Given the description of an element on the screen output the (x, y) to click on. 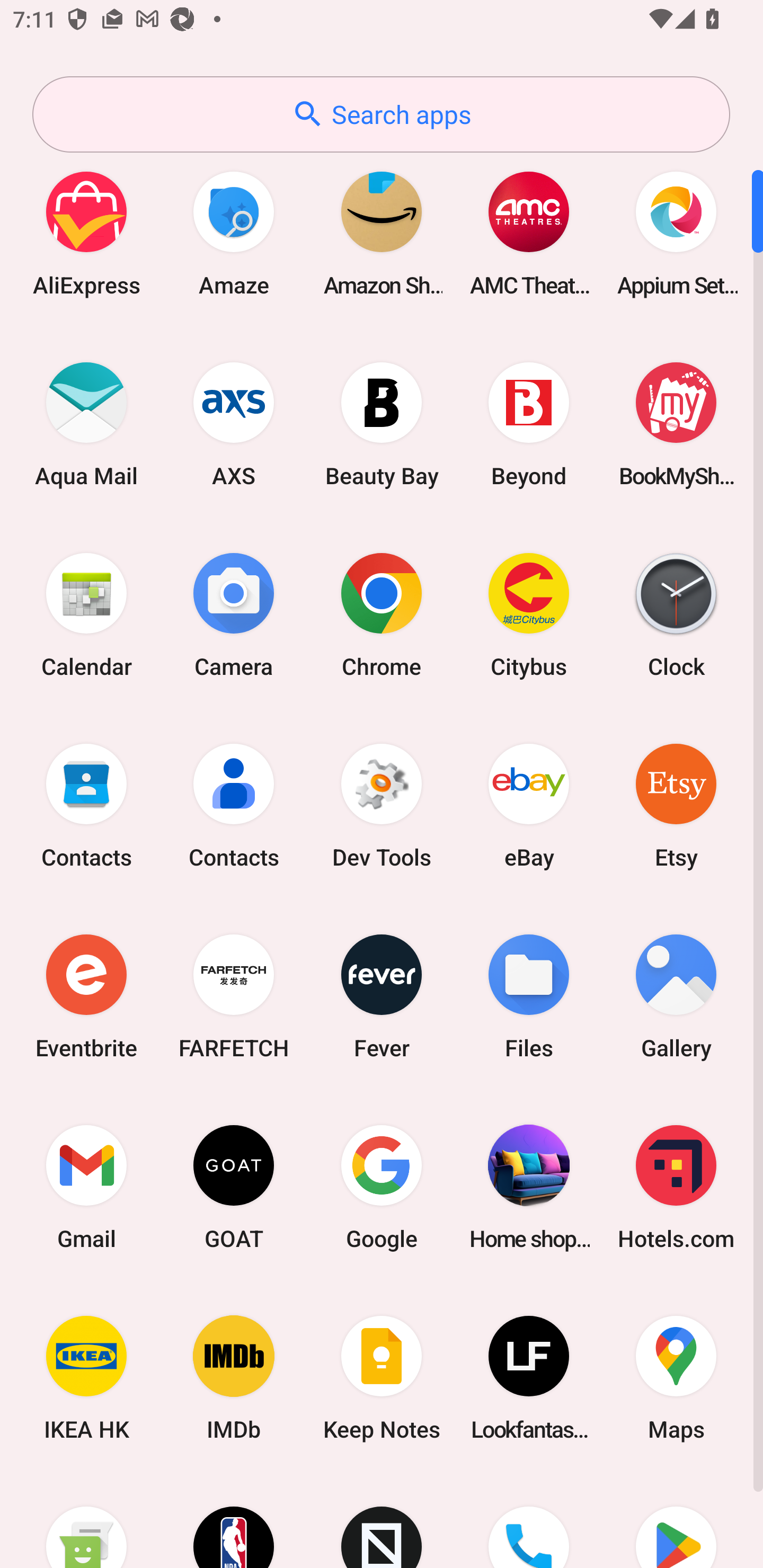
  Search apps (381, 114)
AliExpress (86, 233)
Amaze (233, 233)
Amazon Shopping (381, 233)
AMC Theatres (528, 233)
Appium Settings (676, 233)
Aqua Mail (86, 424)
AXS (233, 424)
Beauty Bay (381, 424)
Beyond (528, 424)
BookMyShow (676, 424)
Calendar (86, 614)
Camera (233, 614)
Chrome (381, 614)
Citybus (528, 614)
Clock (676, 614)
Contacts (86, 805)
Contacts (233, 805)
Dev Tools (381, 805)
eBay (528, 805)
Etsy (676, 805)
Eventbrite (86, 996)
FARFETCH (233, 996)
Fever (381, 996)
Files (528, 996)
Gallery (676, 996)
Gmail (86, 1186)
GOAT (233, 1186)
Google (381, 1186)
Home shopping (528, 1186)
Hotels.com (676, 1186)
IKEA HK (86, 1377)
IMDb (233, 1377)
Keep Notes (381, 1377)
Lookfantastic (528, 1377)
Maps (676, 1377)
Messaging (86, 1520)
NBA (233, 1520)
Novelship (381, 1520)
Phone (528, 1520)
Play Store (676, 1520)
